Given the description of an element on the screen output the (x, y) to click on. 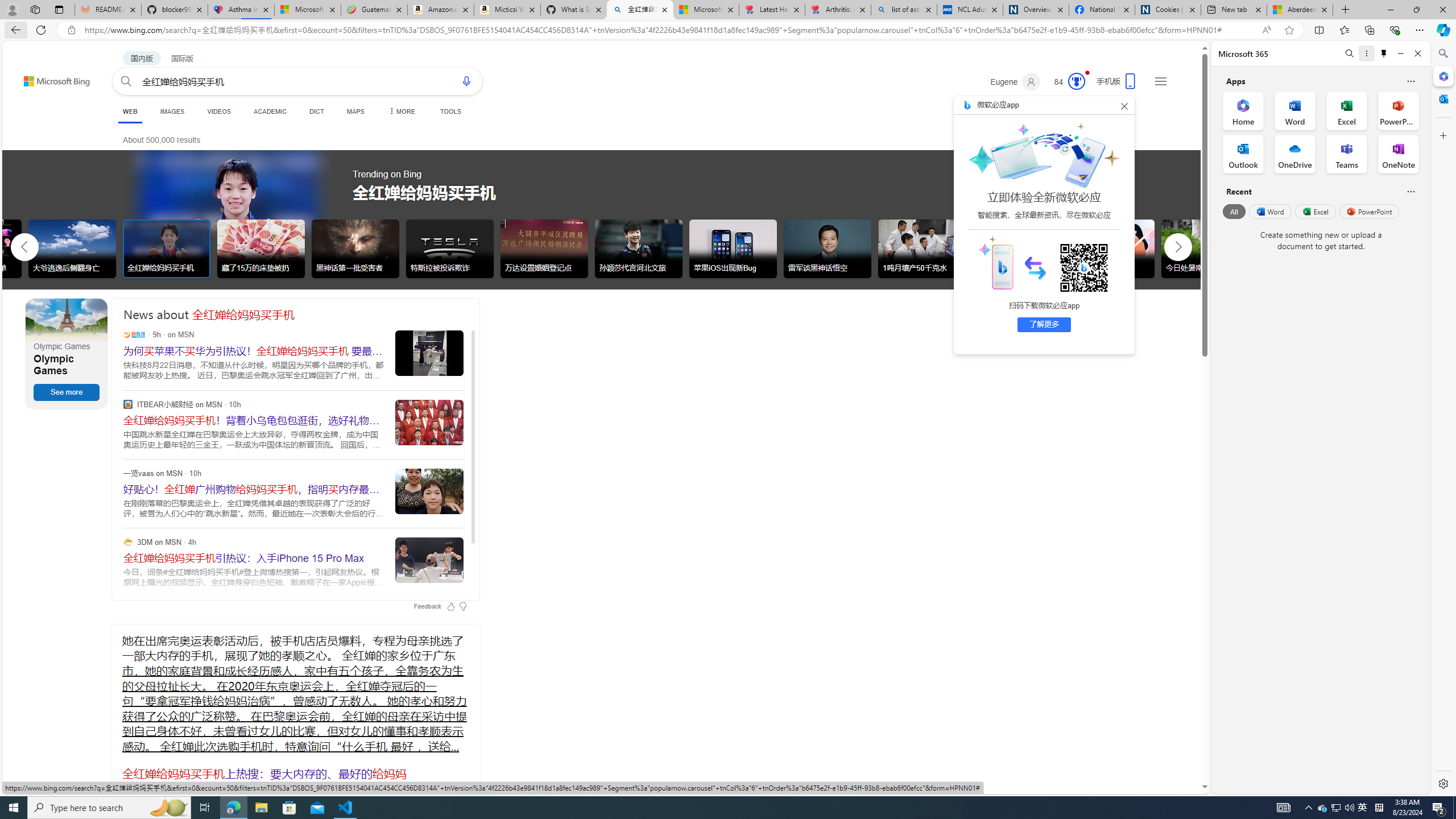
All (1233, 210)
Arthritis: Ask Health Professionals (838, 9)
Asthma Inhalers: Names and Types (240, 9)
